Given the description of an element on the screen output the (x, y) to click on. 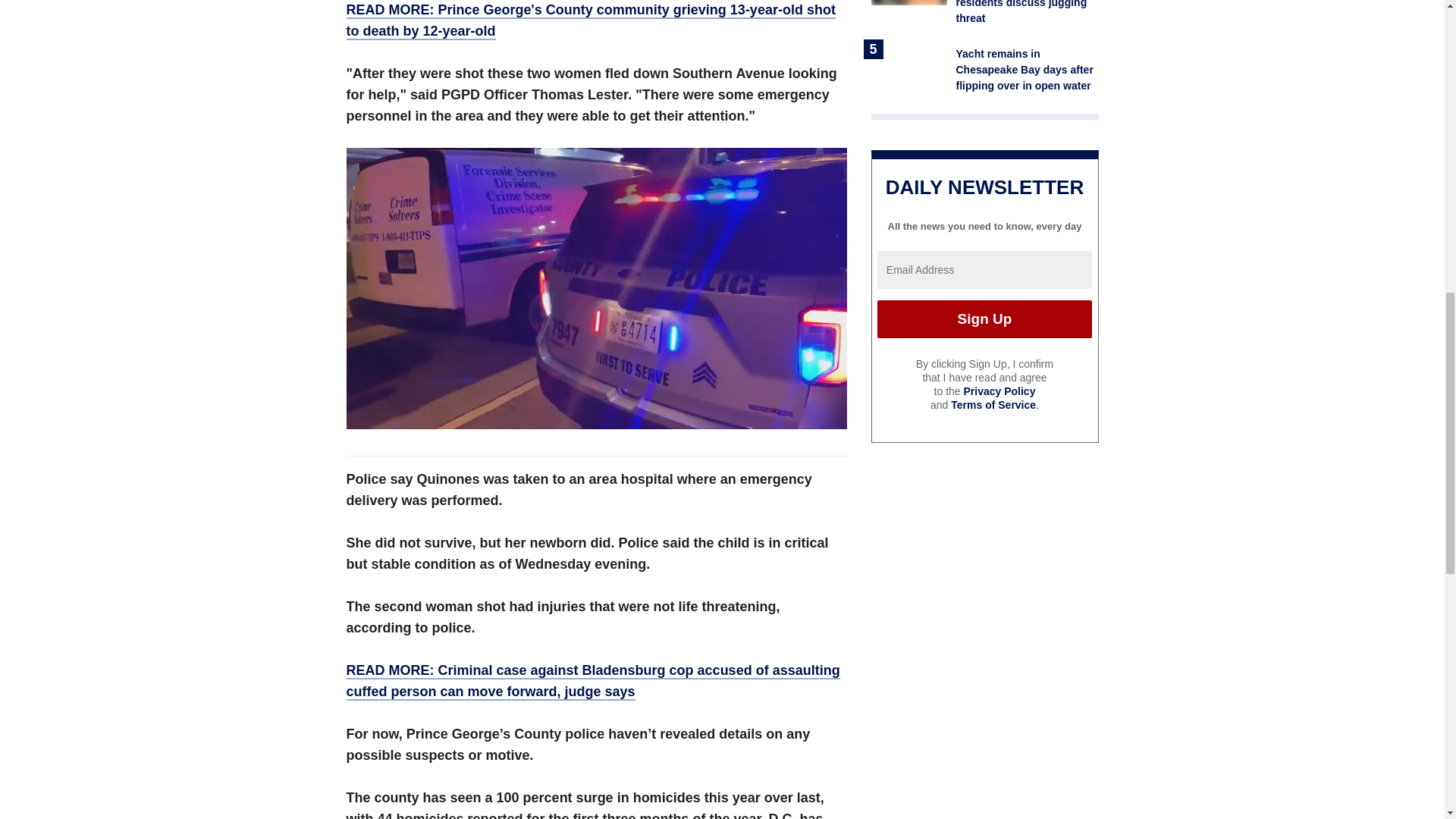
Sign Up (984, 319)
